Given the description of an element on the screen output the (x, y) to click on. 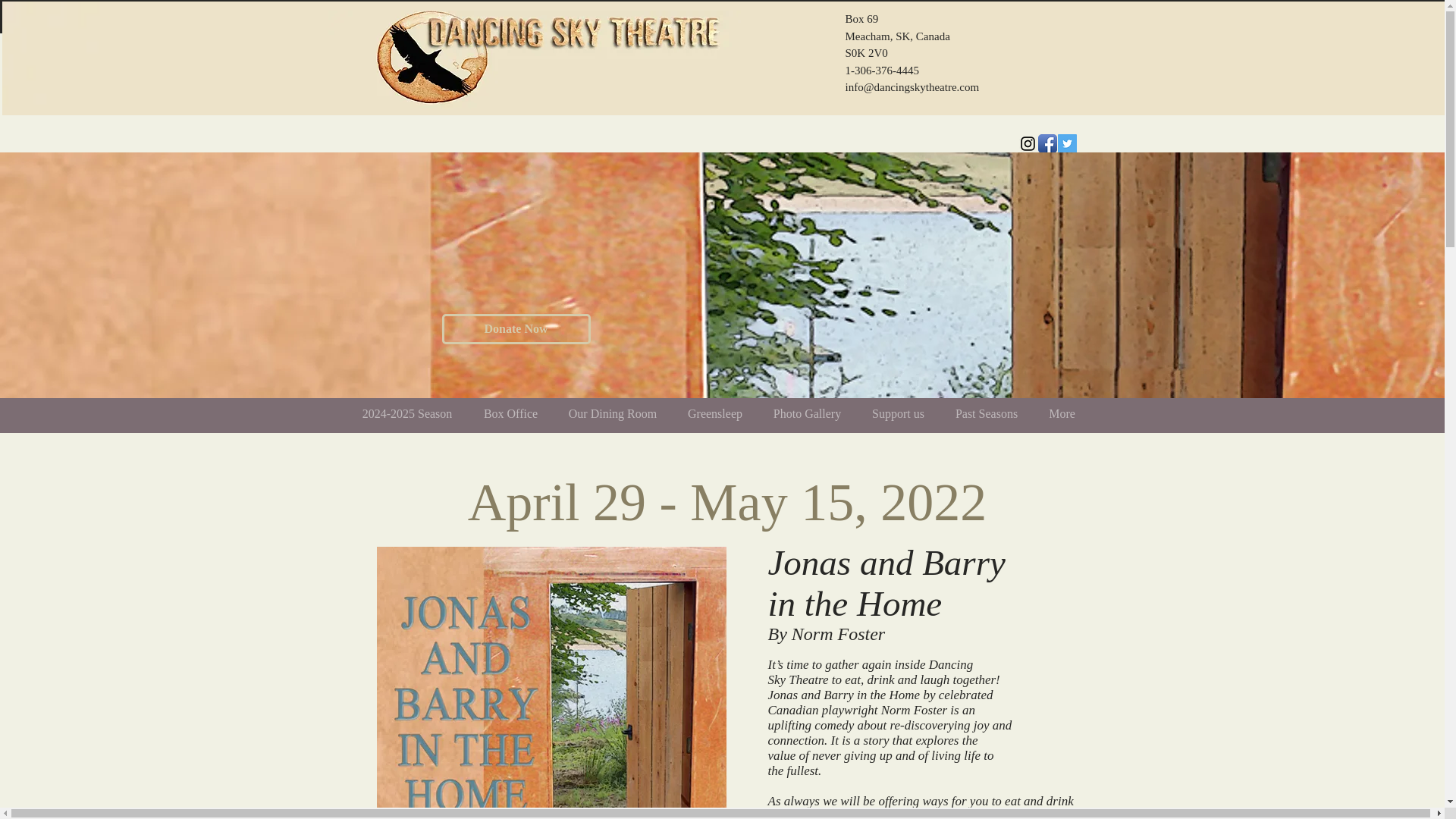
Greensleep (714, 413)
Photo Gallery (807, 413)
Pandemics Pratfalls and Prayers without  (550, 683)
Past Seasons (986, 413)
Box Office (510, 413)
Our Dining Room (612, 413)
Donate Now (515, 328)
Support us (898, 413)
2024-2025 Season (406, 413)
